Given the description of an element on the screen output the (x, y) to click on. 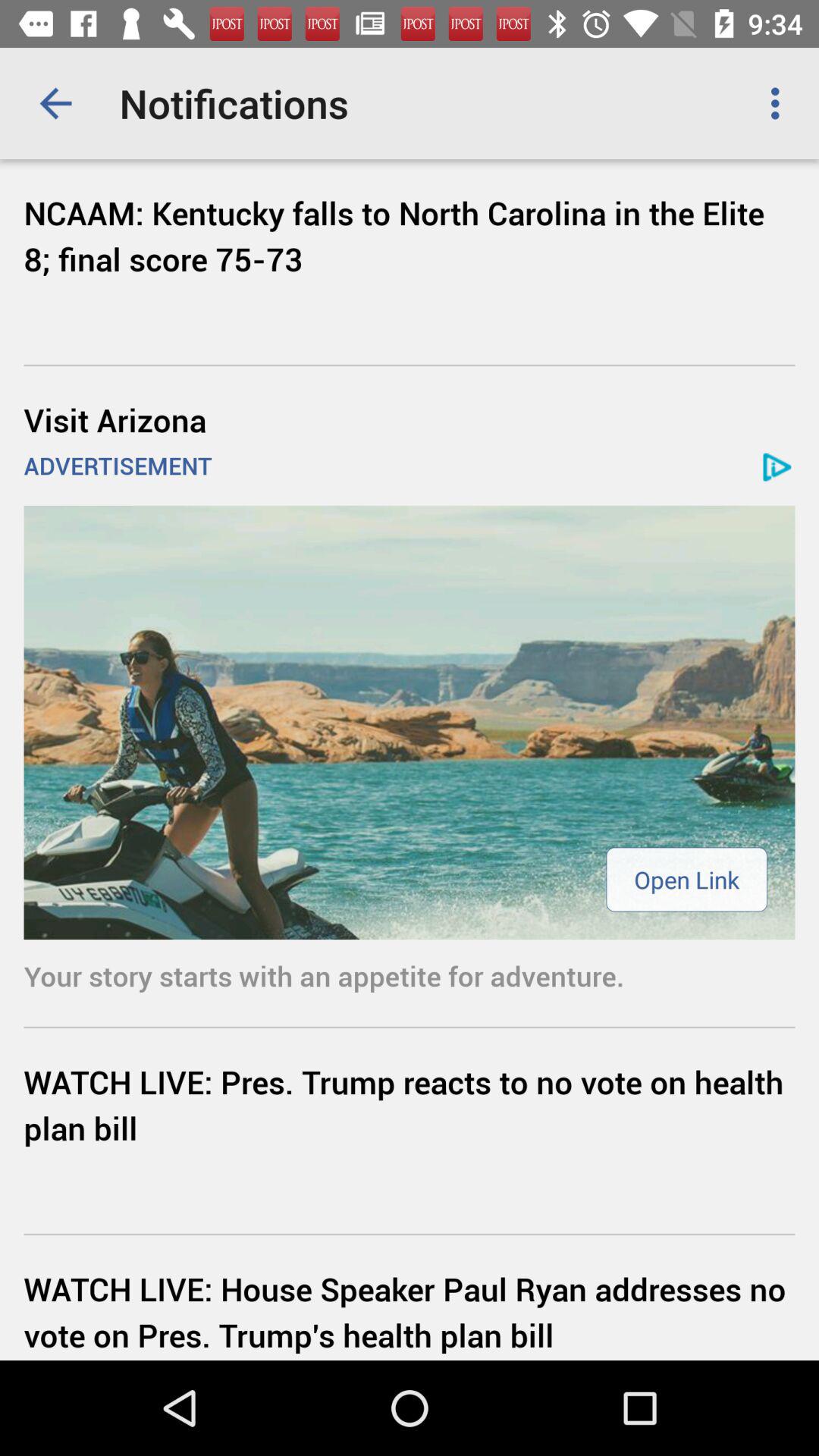
select icon above ncaam kentucky falls (55, 103)
